Given the description of an element on the screen output the (x, y) to click on. 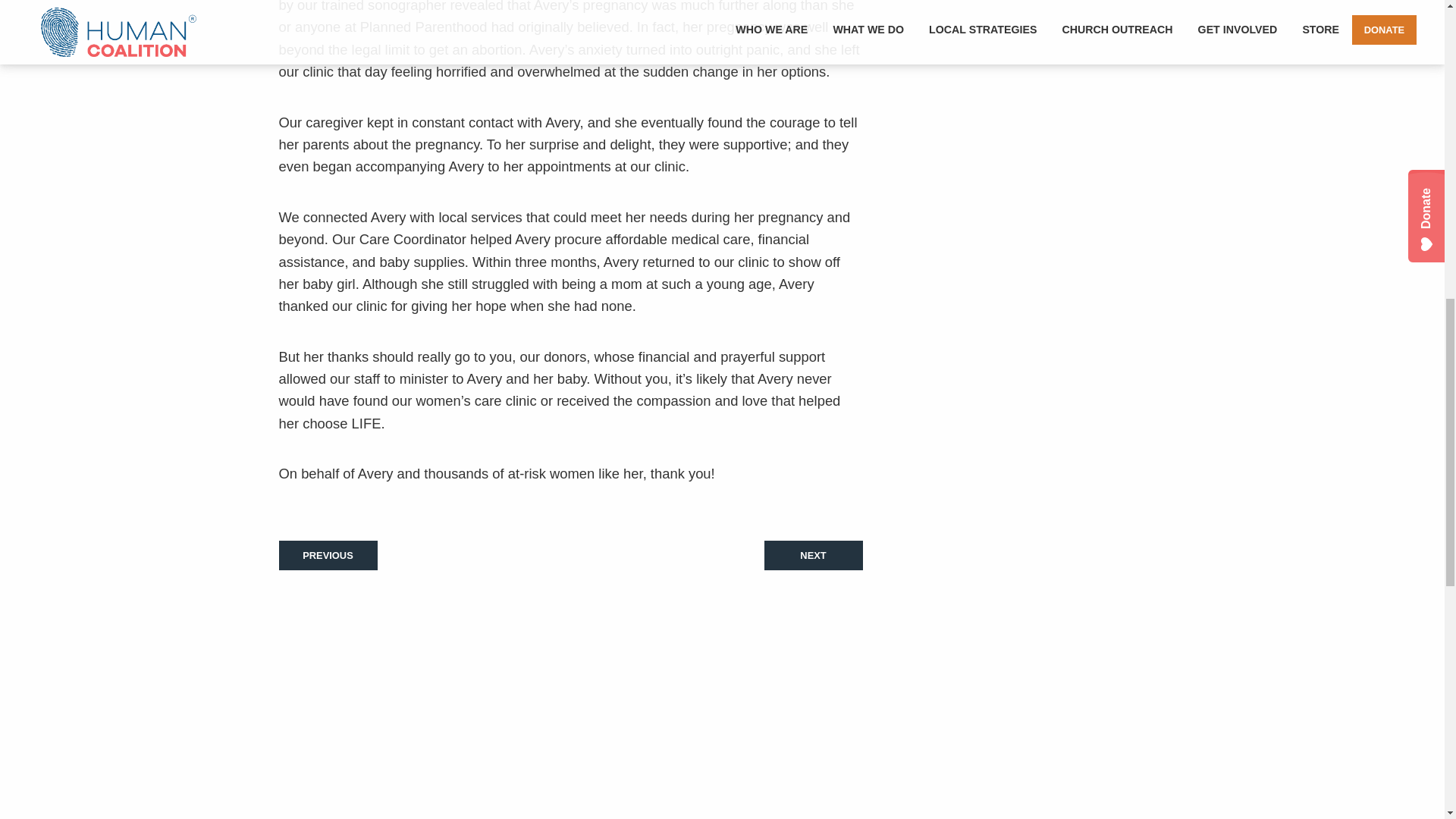
PREVIOUS (328, 555)
NEXT (813, 555)
